Given the description of an element on the screen output the (x, y) to click on. 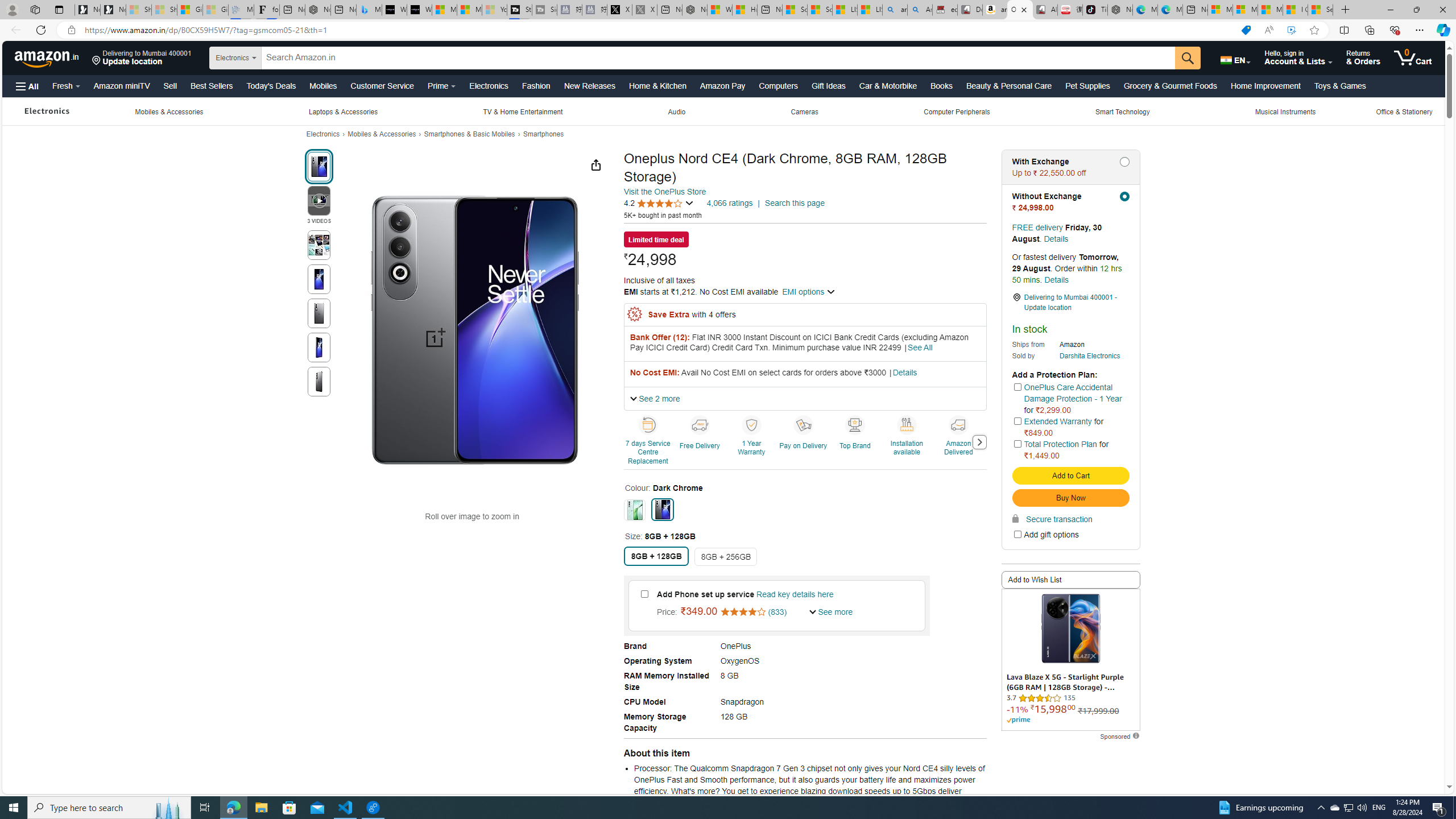
4,066 ratings (729, 202)
Search this page (794, 202)
Add to Cart (1069, 475)
amazon.in/dp/B0CX59H5W7/?tag=gsmcom05-21 (993, 9)
X (619, 9)
See more (831, 611)
Free Delivery (699, 424)
0 items in cart (1413, 57)
Extended Warranty (1057, 420)
Amazon Echo Dot PNG - Search Images (919, 9)
Fashion (536, 85)
Add gift options (1017, 534)
Choose a language for shopping. (1235, 57)
Amazon Delivered (959, 441)
